Given the description of an element on the screen output the (x, y) to click on. 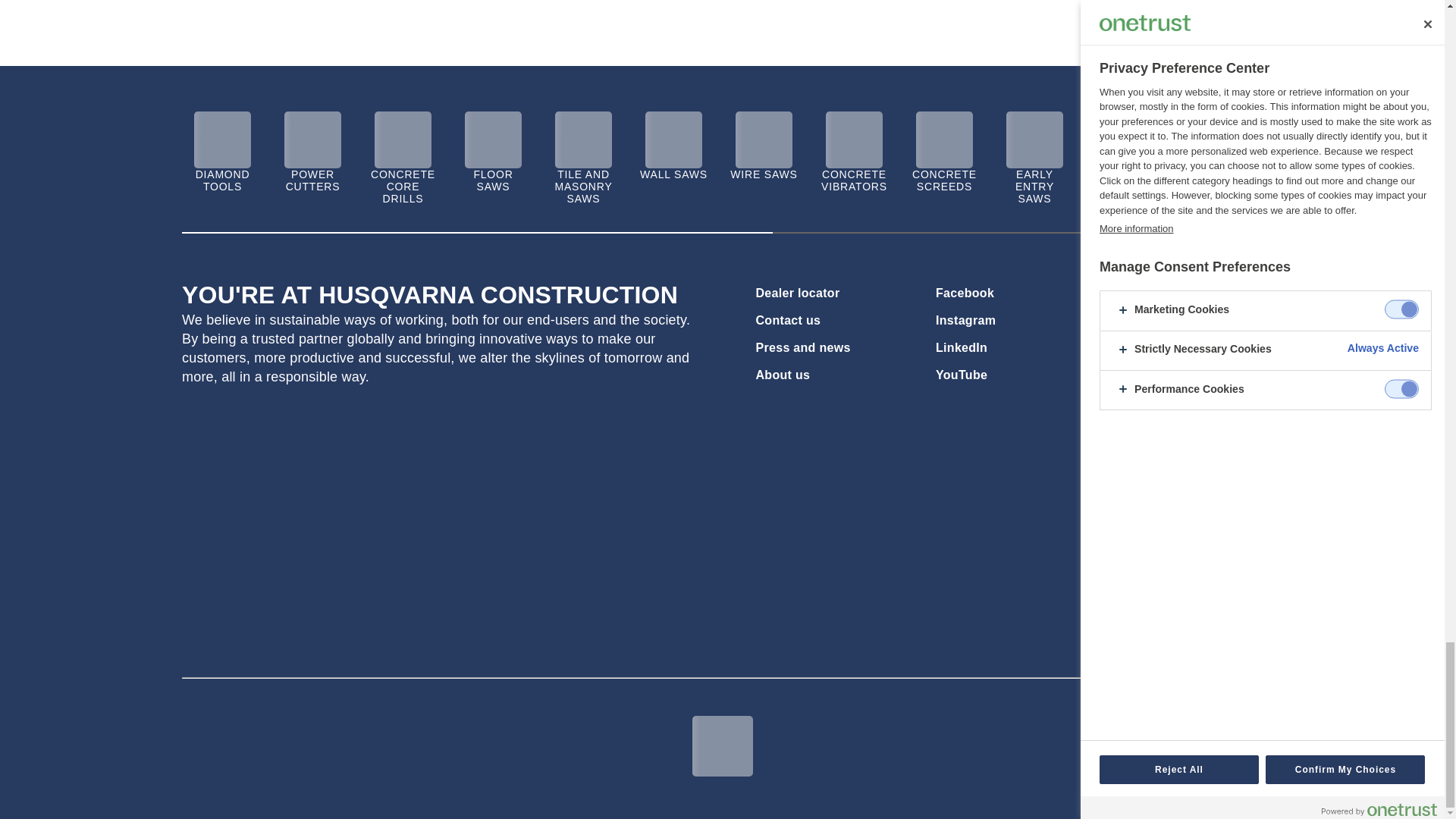
POWER CUTTERS (312, 180)
CONCRETE VIBRATORS (853, 180)
EARLY ENTRY SAWS (1034, 186)
CONCRETE SCREEDS (943, 180)
COMPACTORS (1124, 180)
FLOOR SCRAPERS (1214, 180)
FLOOR SAWS (493, 180)
WIRE SAWS (763, 174)
